Given the description of an element on the screen output the (x, y) to click on. 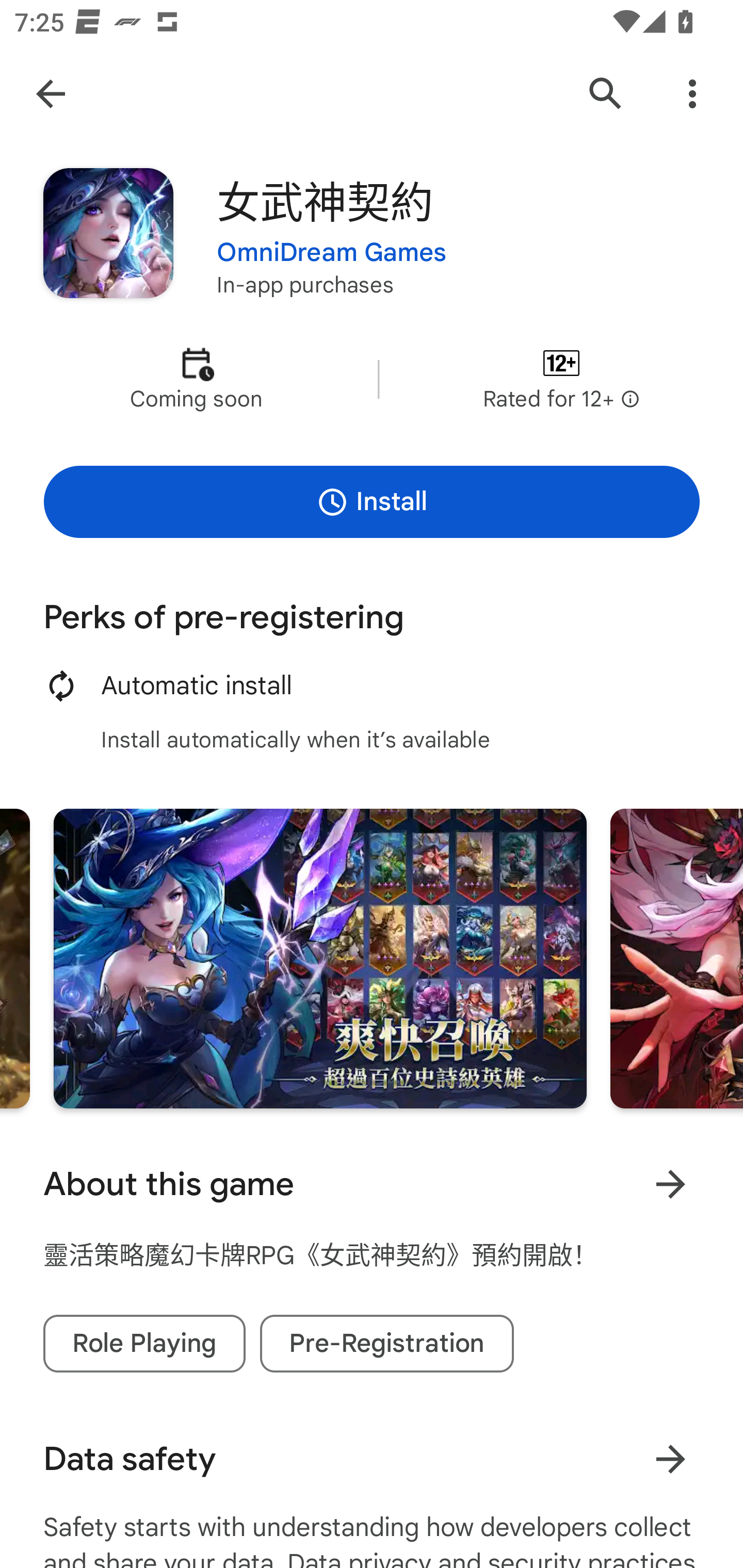
Navigate up (50, 93)
Search Google Play (605, 93)
More Options (692, 93)
OmniDream Games (331, 253)
Content rating Rated for 12+ (561, 379)
Install Pre-register to install (371, 501)
Screenshot "2" of "5" (319, 958)
About this game Learn more About this game (371, 1184)
Learn more About this game (670, 1184)
Role Playing tag (144, 1343)
Pre-Registration tag (387, 1343)
Data safety Learn more about data safety (371, 1458)
Learn more about data safety (670, 1458)
